Given the description of an element on the screen output the (x, y) to click on. 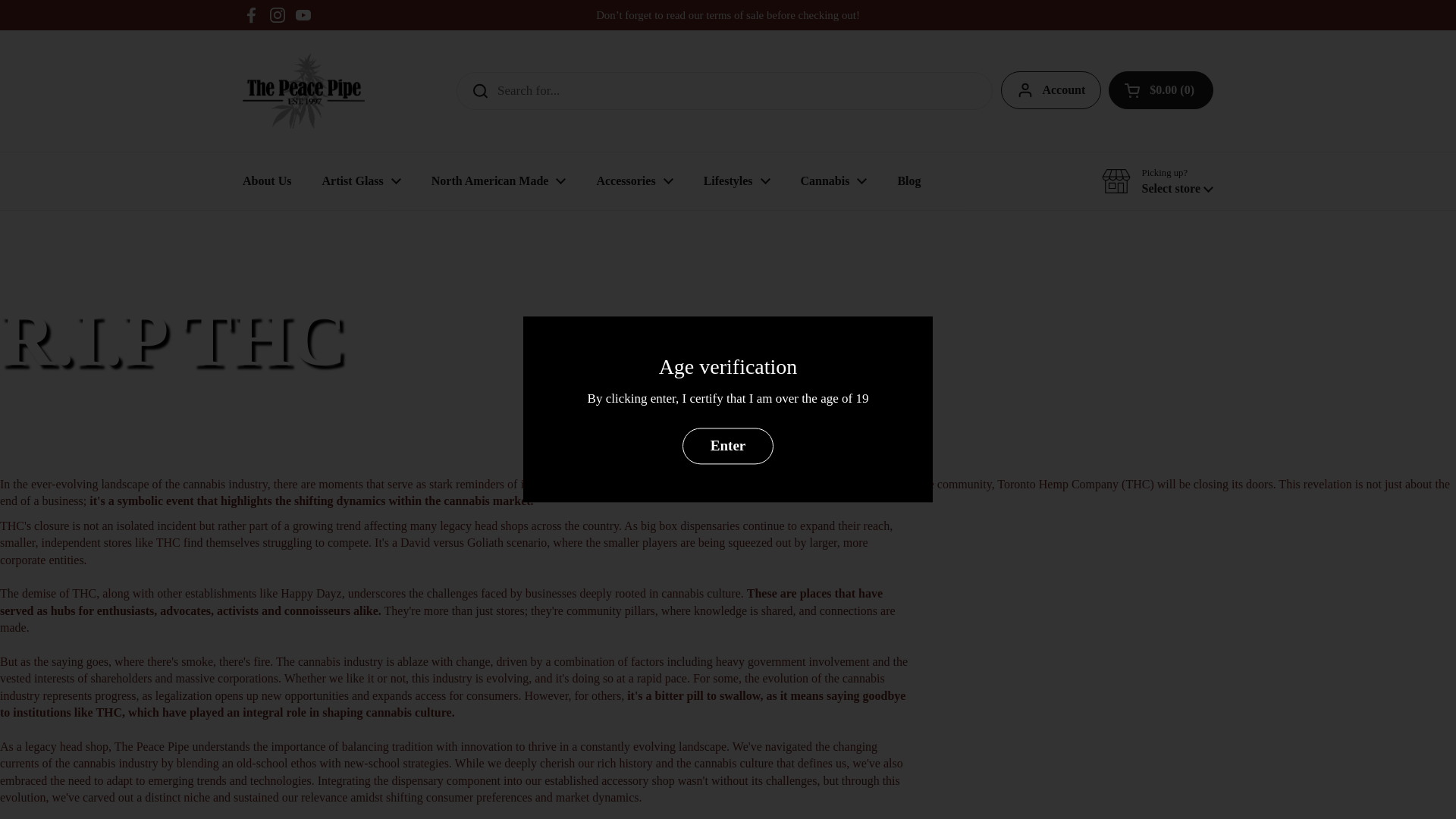
Facebook (251, 14)
Account (1050, 89)
About Us (266, 181)
YouTube (303, 14)
Artist Glass (359, 181)
About Us (266, 181)
Instagram (276, 14)
Open cart (1160, 89)
Peace Pipe 420 (304, 90)
Artist Glass (359, 181)
